Given the description of an element on the screen output the (x, y) to click on. 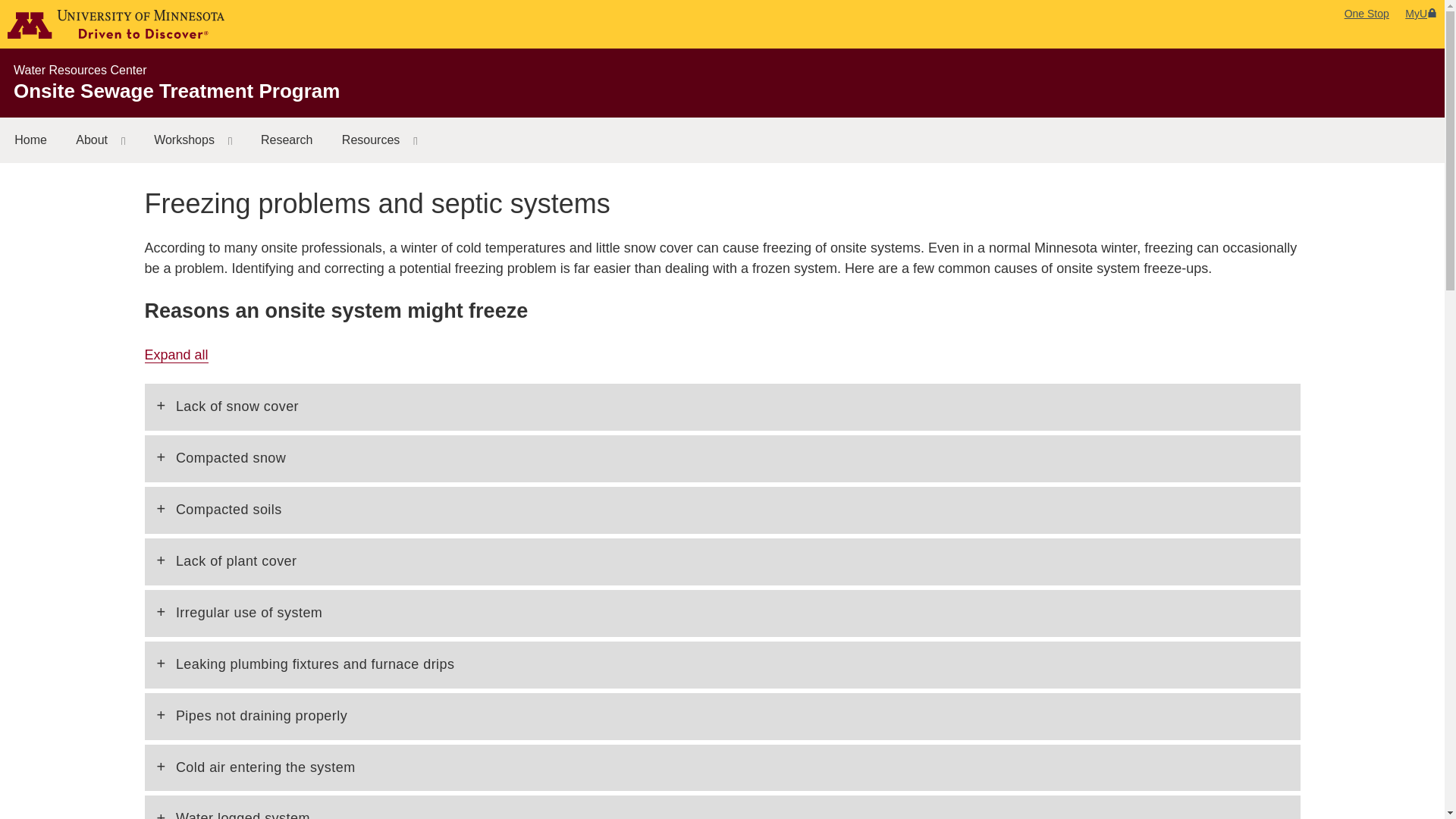
One Stop (1366, 13)
Home (30, 139)
Onsite Sewage Treatment Program (176, 90)
MyU (1421, 13)
